Given the description of an element on the screen output the (x, y) to click on. 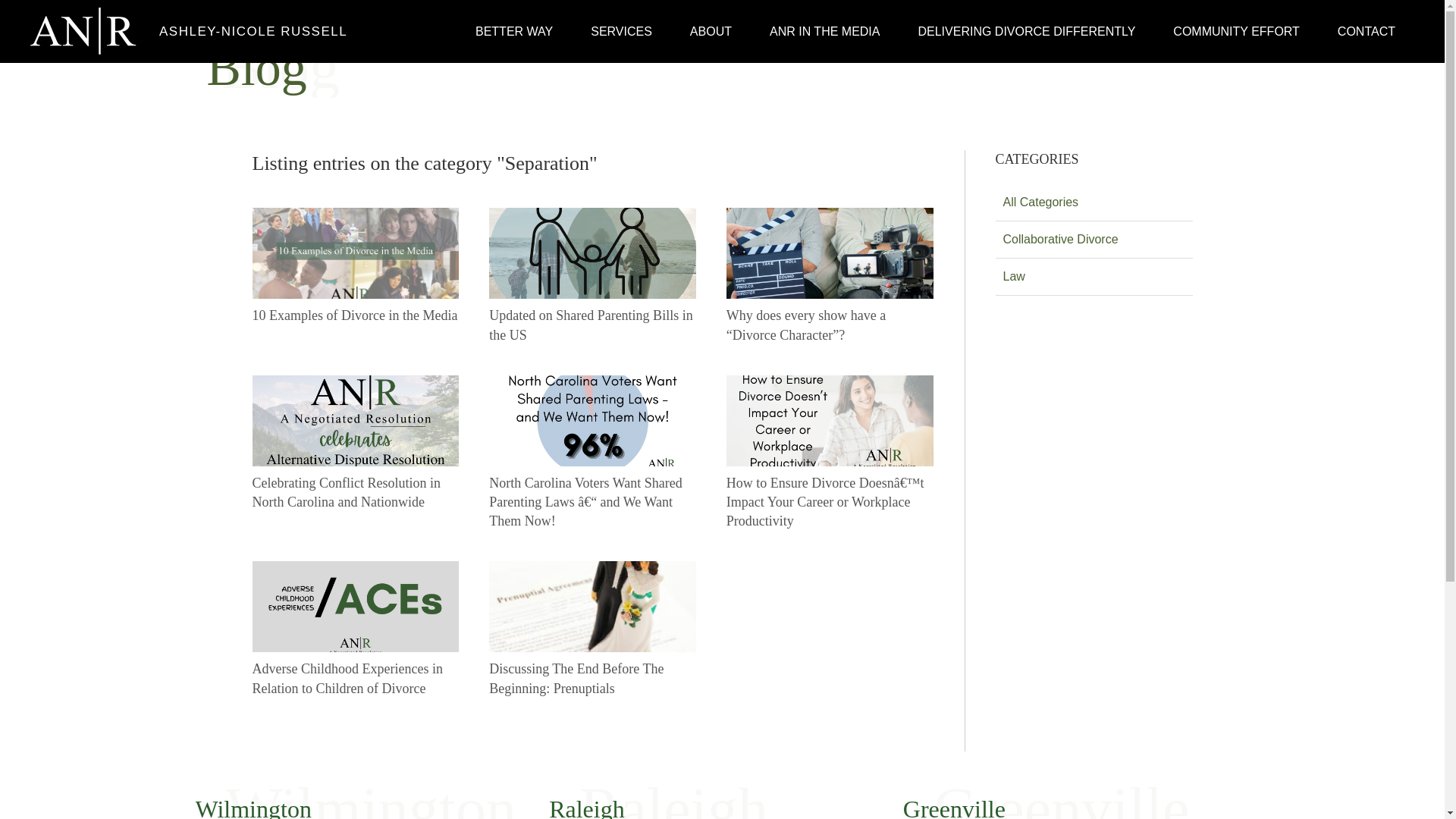
ANR IN THE MEDIA (825, 30)
The Law Offices of Ashley-Nicole Russell, P.A (245, 31)
BETTER WAY (514, 30)
ASHLEY-NICOLE RUSSELL (245, 31)
Blog (255, 67)
Updated on Shared Parenting Bills in the US (592, 275)
10 Examples of Divorce in the Media (354, 266)
SERVICES (621, 30)
Collaborative Divorce (1093, 239)
Discussing The End Before The Beginning: Prenuptials (592, 629)
